Given the description of an element on the screen output the (x, y) to click on. 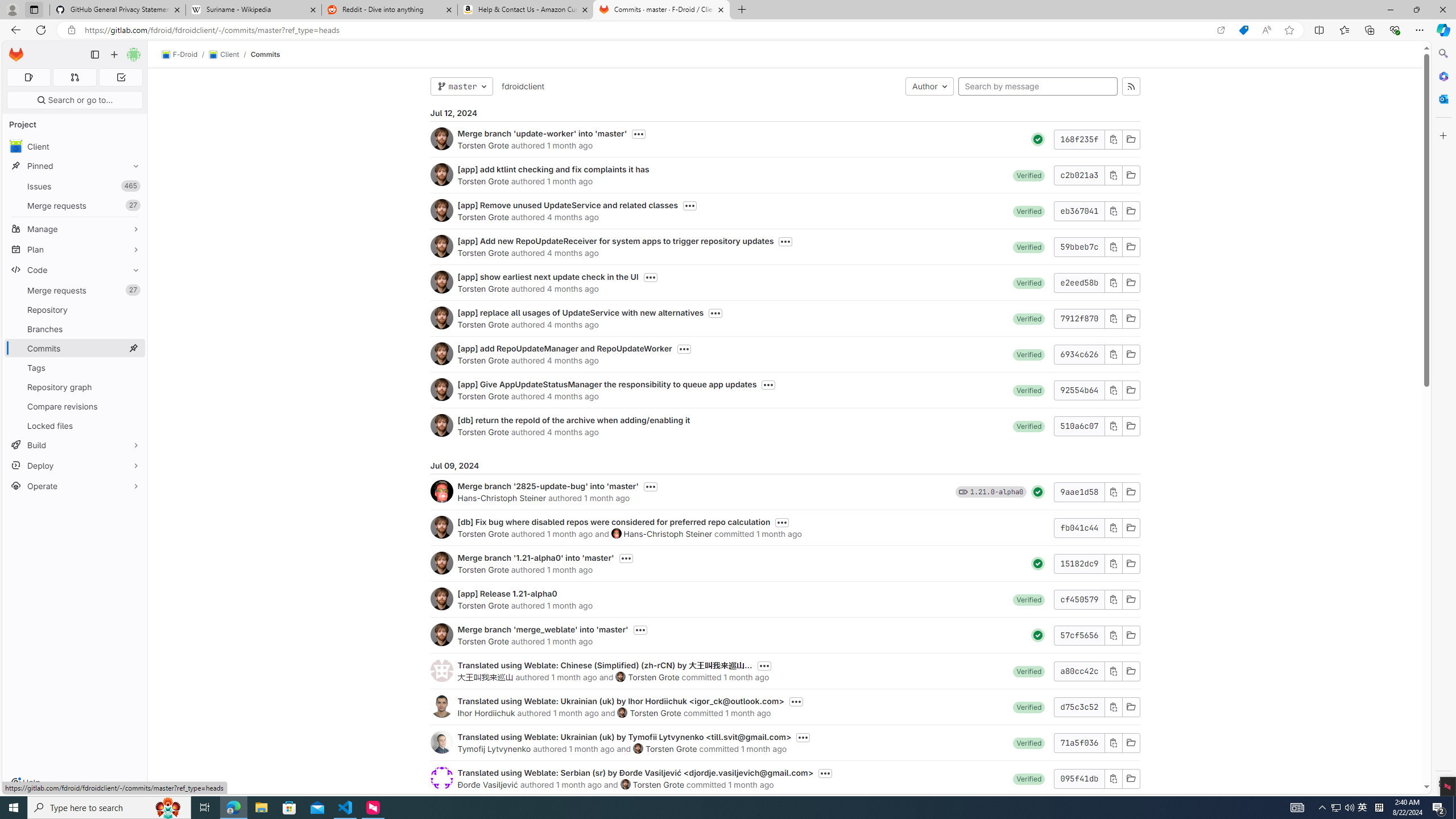
Torsten Grote (657, 784)
Jul 09, 2024 (784, 465)
To-Do list 0 (120, 76)
Operate (74, 485)
Copy commit SHA (1112, 778)
Plan (74, 248)
